Given the description of an element on the screen output the (x, y) to click on. 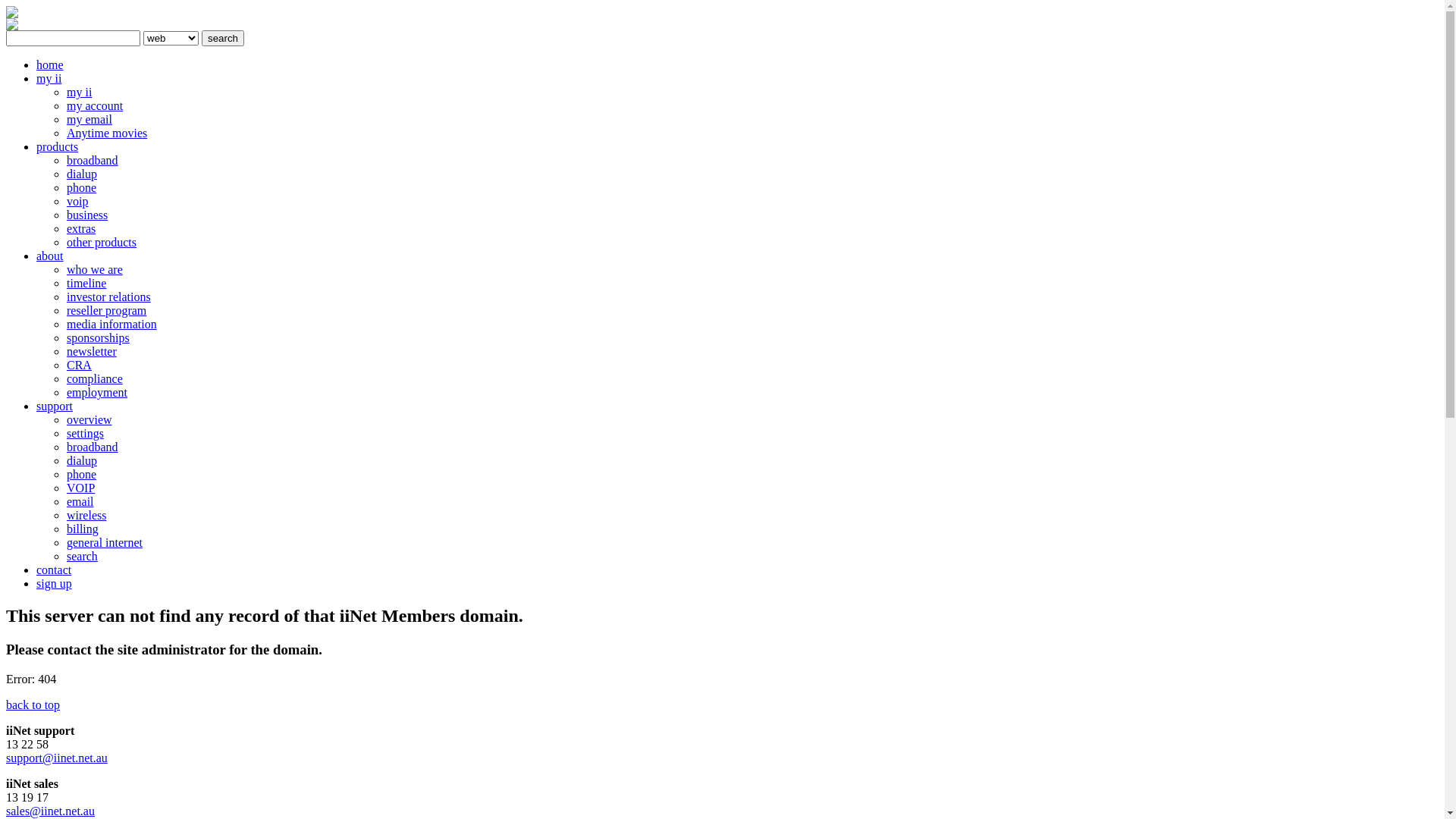
reseller program Element type: text (106, 310)
my ii Element type: text (78, 91)
who we are Element type: text (94, 269)
employment Element type: text (96, 391)
products Element type: text (57, 146)
wireless Element type: text (86, 514)
search Element type: text (81, 555)
support Element type: text (54, 405)
my email Element type: text (89, 118)
support@iinet.net.au Element type: text (56, 757)
sign up Element type: text (54, 583)
general internet Element type: text (104, 542)
phone Element type: text (81, 473)
compliance Element type: text (94, 378)
other products Element type: text (101, 241)
about Element type: text (49, 255)
CRA Element type: text (78, 364)
VOIP Element type: text (80, 487)
overview Element type: text (89, 419)
billing Element type: text (82, 528)
media information Element type: text (111, 323)
dialup Element type: text (81, 460)
sales@iinet.net.au Element type: text (50, 810)
extras Element type: text (80, 228)
email Element type: text (80, 501)
business Element type: text (86, 214)
contact Element type: text (53, 569)
voip Element type: text (76, 200)
investor relations Element type: text (108, 296)
Anytime movies Element type: text (106, 132)
sponsorships Element type: text (97, 337)
home Element type: text (49, 64)
phone Element type: text (81, 187)
settings Element type: text (84, 432)
back to top Element type: text (32, 704)
broadband Element type: text (92, 446)
my account Element type: text (94, 105)
newsletter Element type: text (91, 351)
timeline Element type: text (86, 282)
search Element type: text (222, 38)
my ii Element type: text (48, 78)
broadband Element type: text (92, 159)
dialup Element type: text (81, 173)
